Given the description of an element on the screen output the (x, y) to click on. 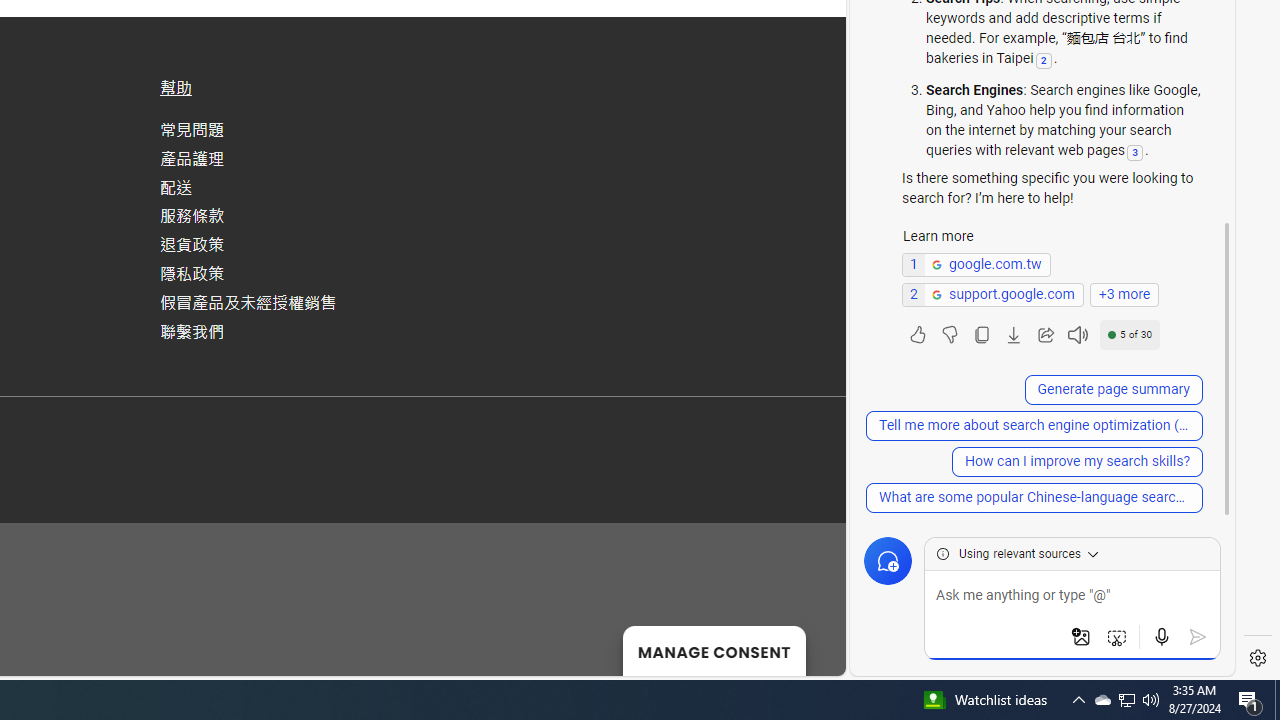
Go to top (804, 647)
